Given the description of an element on the screen output the (x, y) to click on. 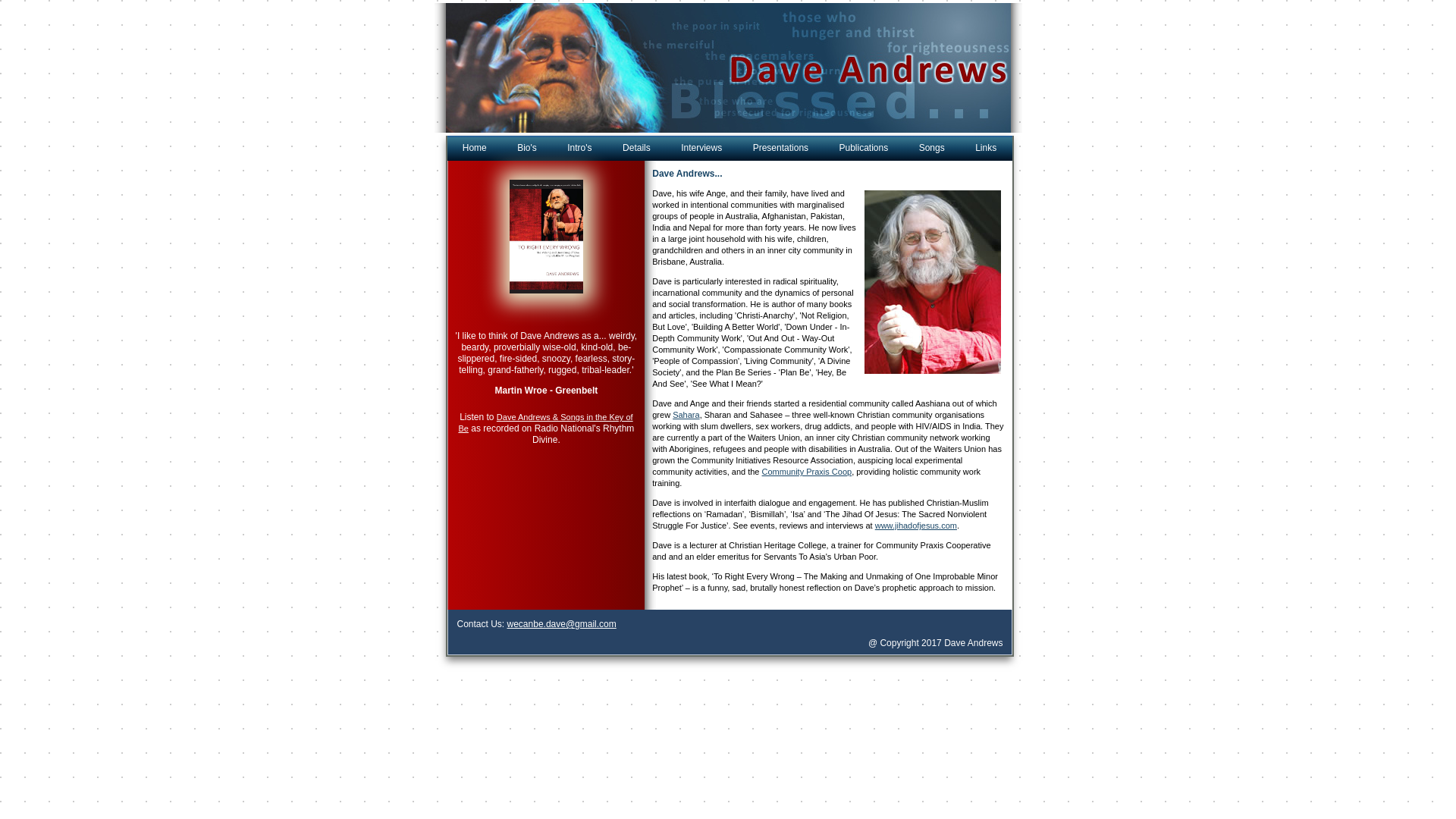
Dave Andrews & Songs in the Key of Be Element type: text (545, 422)
wecanbe.dave@gmail.com Element type: text (561, 623)
Publications Element type: text (863, 147)
Sahara Element type: text (685, 414)
Community Praxis Coop Element type: text (807, 471)
Interviews Element type: text (700, 147)
Songs Element type: text (931, 147)
Bio's Element type: text (526, 147)
Links Element type: text (985, 147)
www.jihadofjesus.com Element type: text (916, 525)
Details Element type: text (636, 147)
Intro's Element type: text (579, 147)
Home Element type: text (474, 147)
Presentations Element type: text (780, 147)
